Given the description of an element on the screen output the (x, y) to click on. 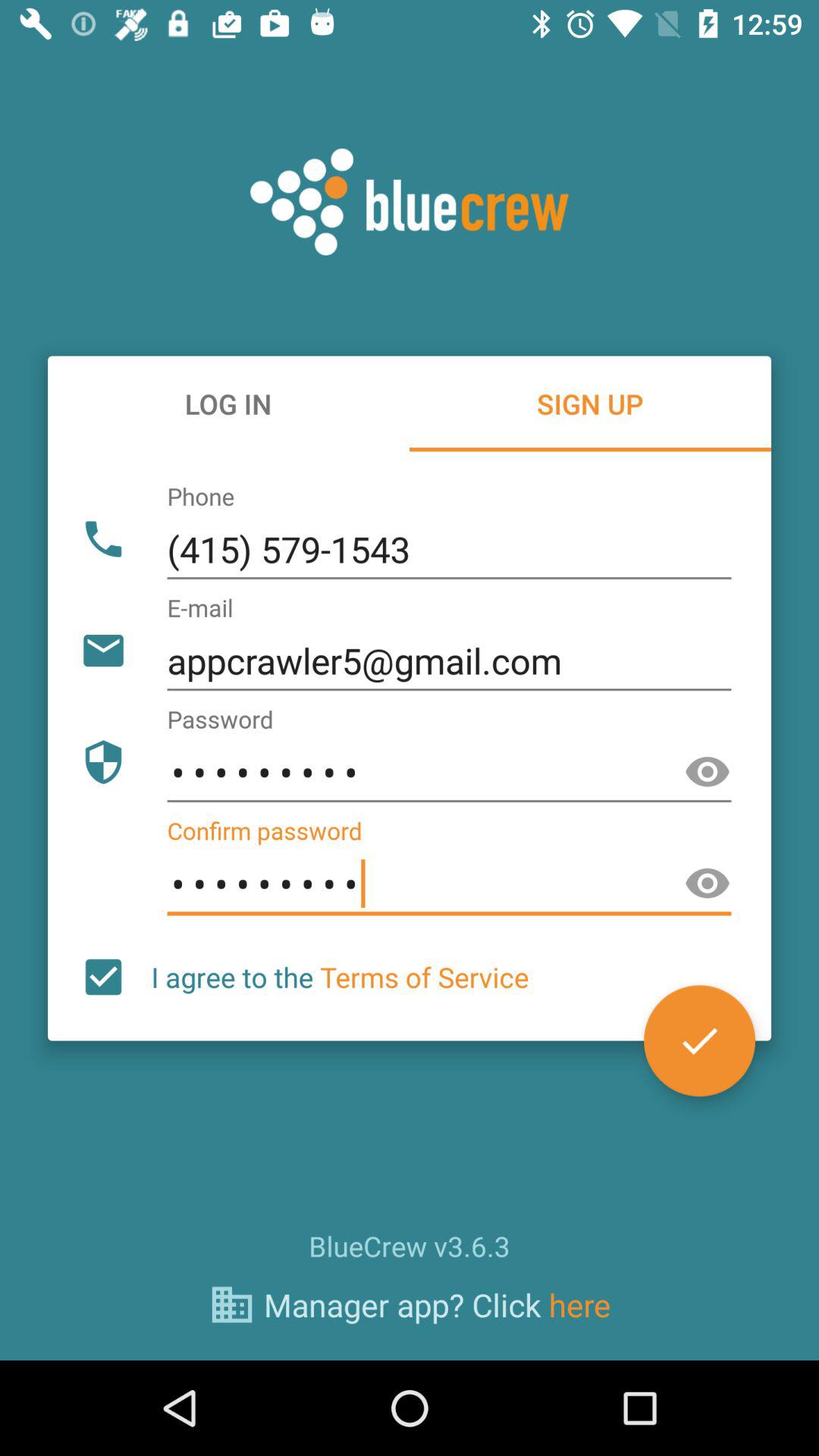
confirm (699, 1040)
